Given the description of an element on the screen output the (x, y) to click on. 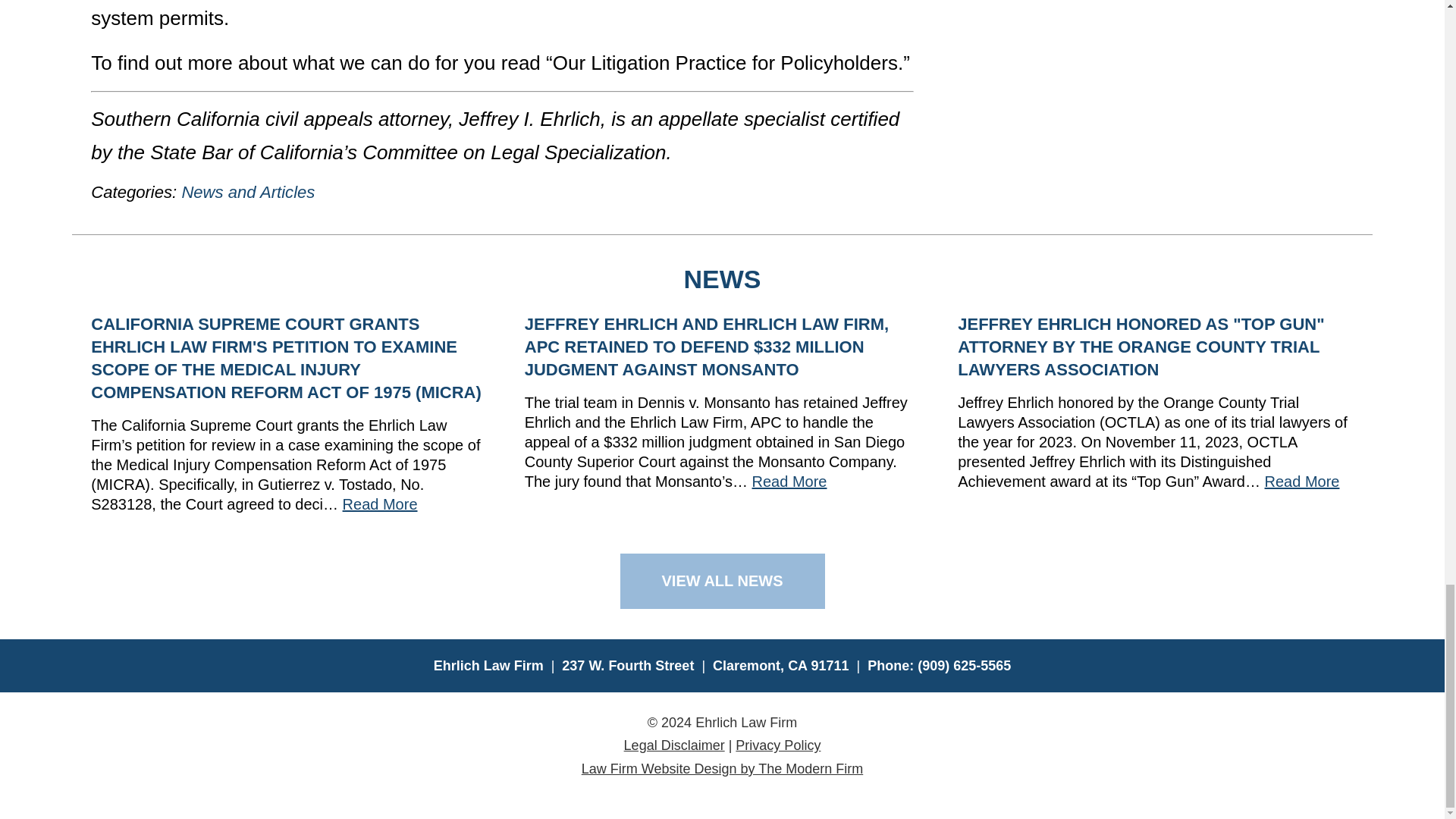
Disclaimer (674, 744)
News and Articles (247, 191)
Law Firm Website Design (721, 768)
Click for more News and Articles information (247, 191)
